Given the description of an element on the screen output the (x, y) to click on. 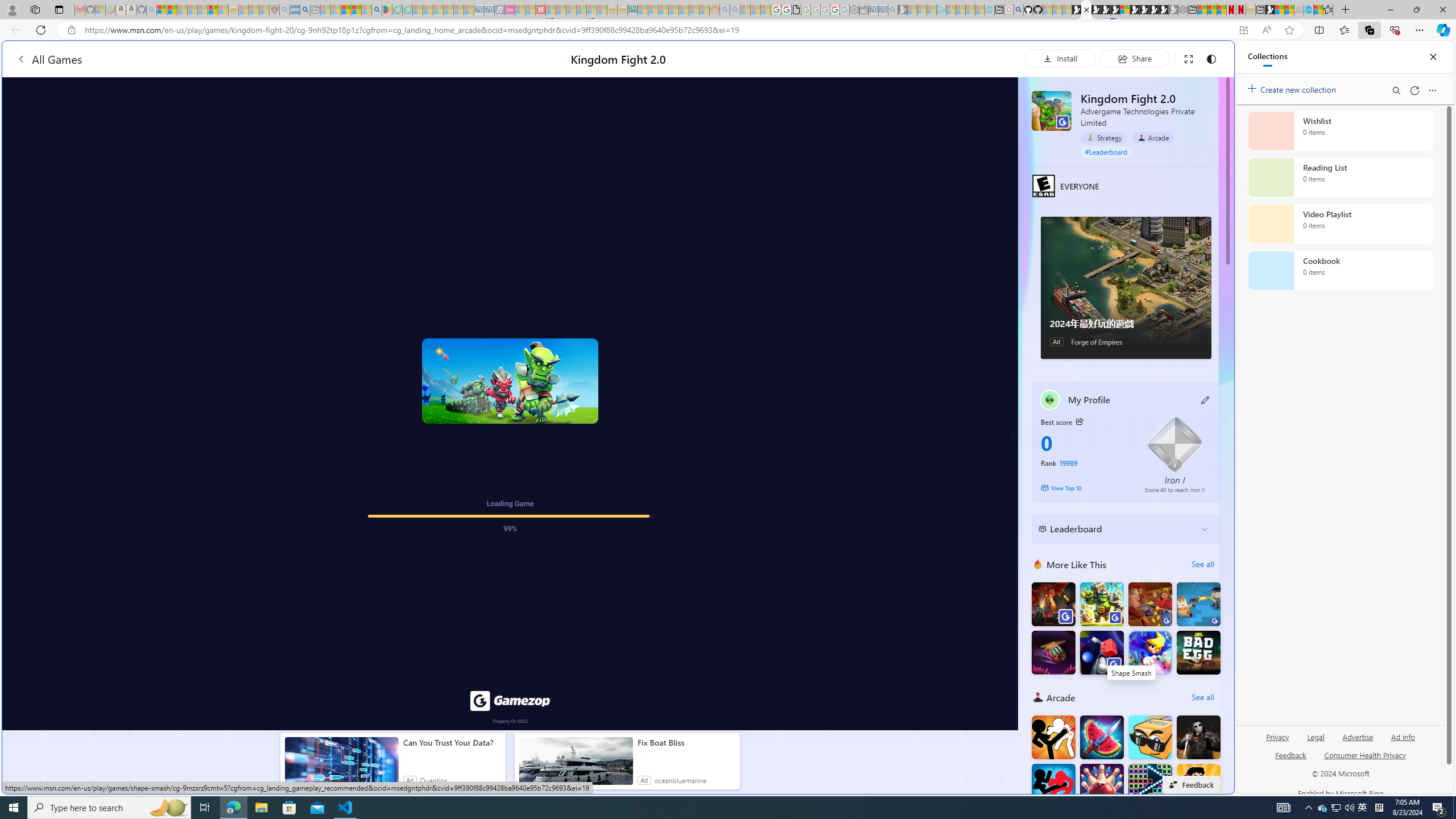
Kingdom Fight 2.0 (1051, 110)
Arcade (1152, 137)
Tabs you've opened (885, 151)
Bluey: Let's Play! - Apps on Google Play (387, 9)
